Given the description of an element on the screen output the (x, y) to click on. 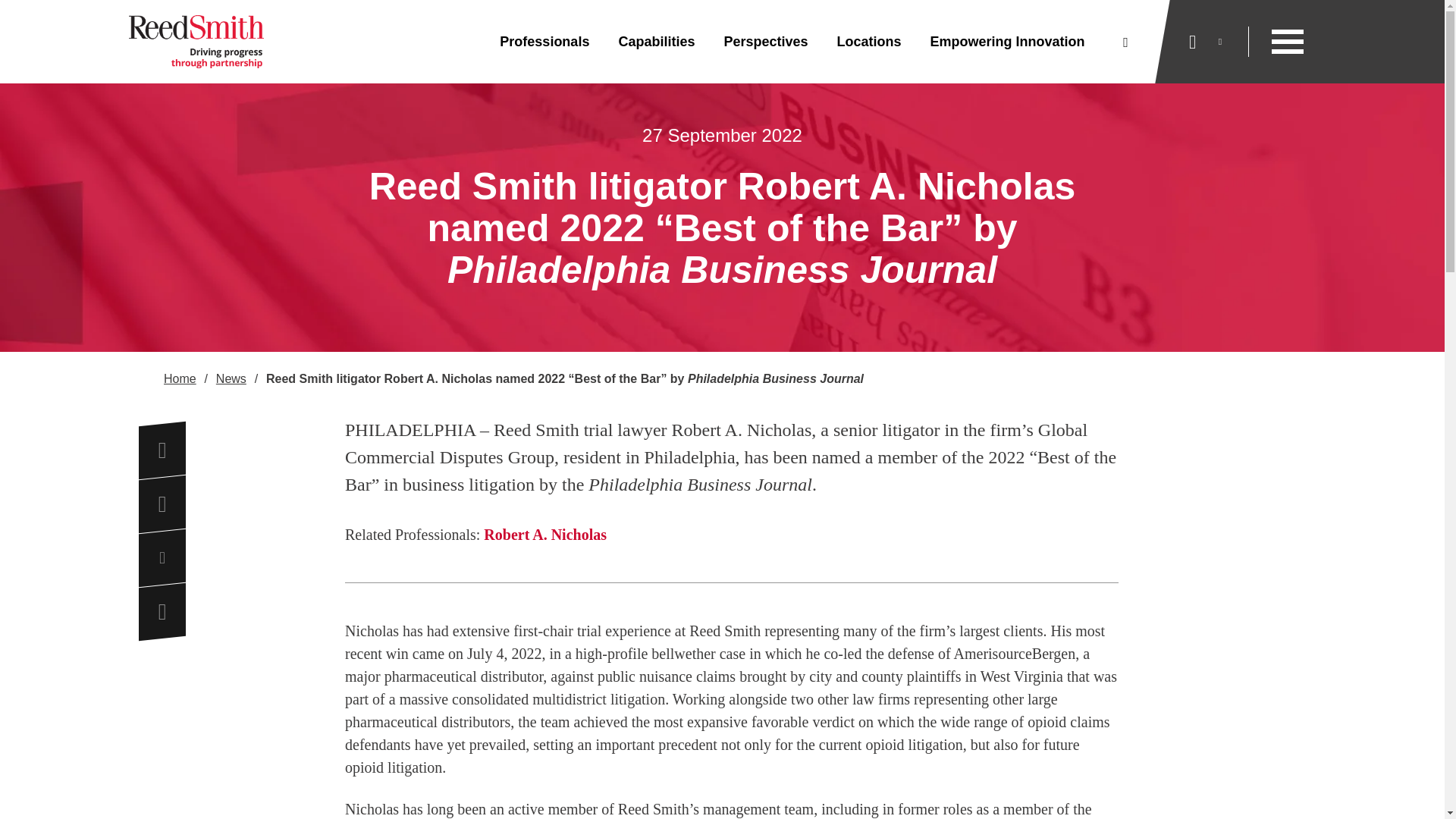
Professionals (544, 41)
Capabilities (656, 41)
Related Professionals: Robert A. Nicholas (731, 534)
